Given the description of an element on the screen output the (x, y) to click on. 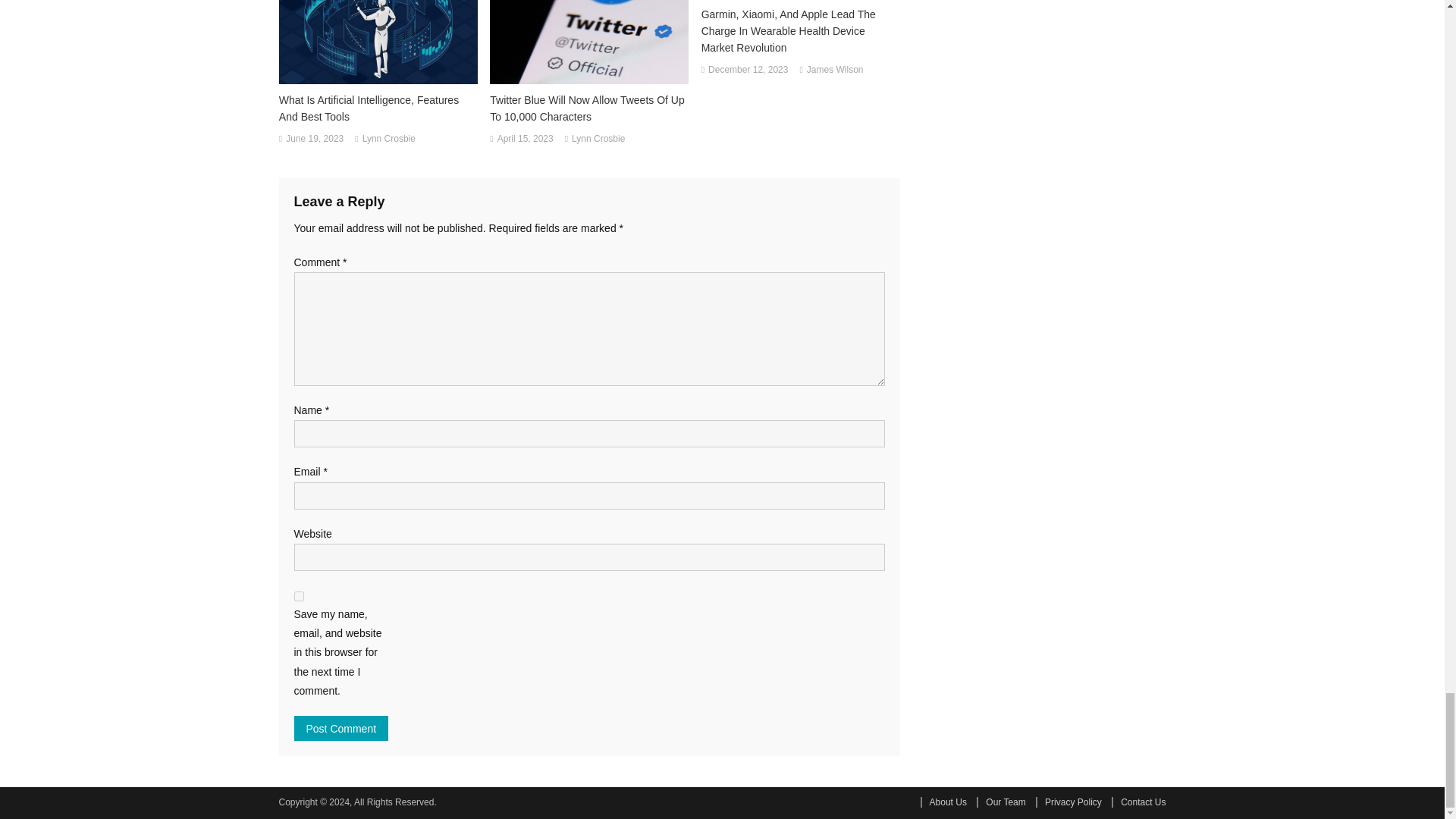
Lynn Crosbie (598, 139)
Post Comment (341, 728)
James Wilson (834, 70)
Post Comment (341, 728)
December 12, 2023 (747, 70)
yes (299, 596)
Lynn Crosbie (388, 139)
April 15, 2023 (525, 139)
June 19, 2023 (314, 139)
What Is Artificial Intelligence, Features And Best Tools (378, 108)
